Given the description of an element on the screen output the (x, y) to click on. 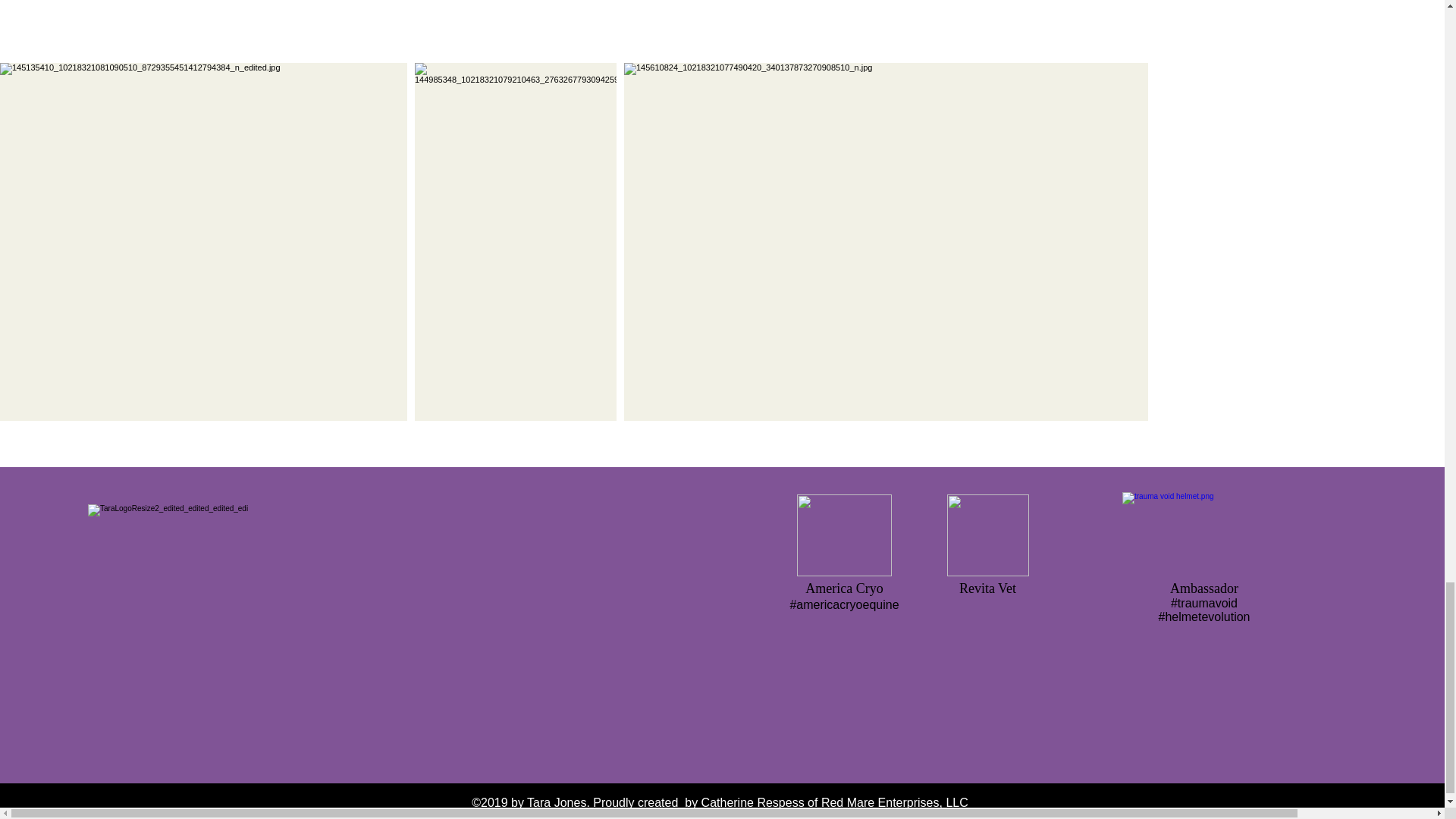
cryo.jpg (843, 535)
Catherine Respess of Red Mare Enterprises, LLC (834, 802)
revitatvet.jpg (988, 535)
